Given the description of an element on the screen output the (x, y) to click on. 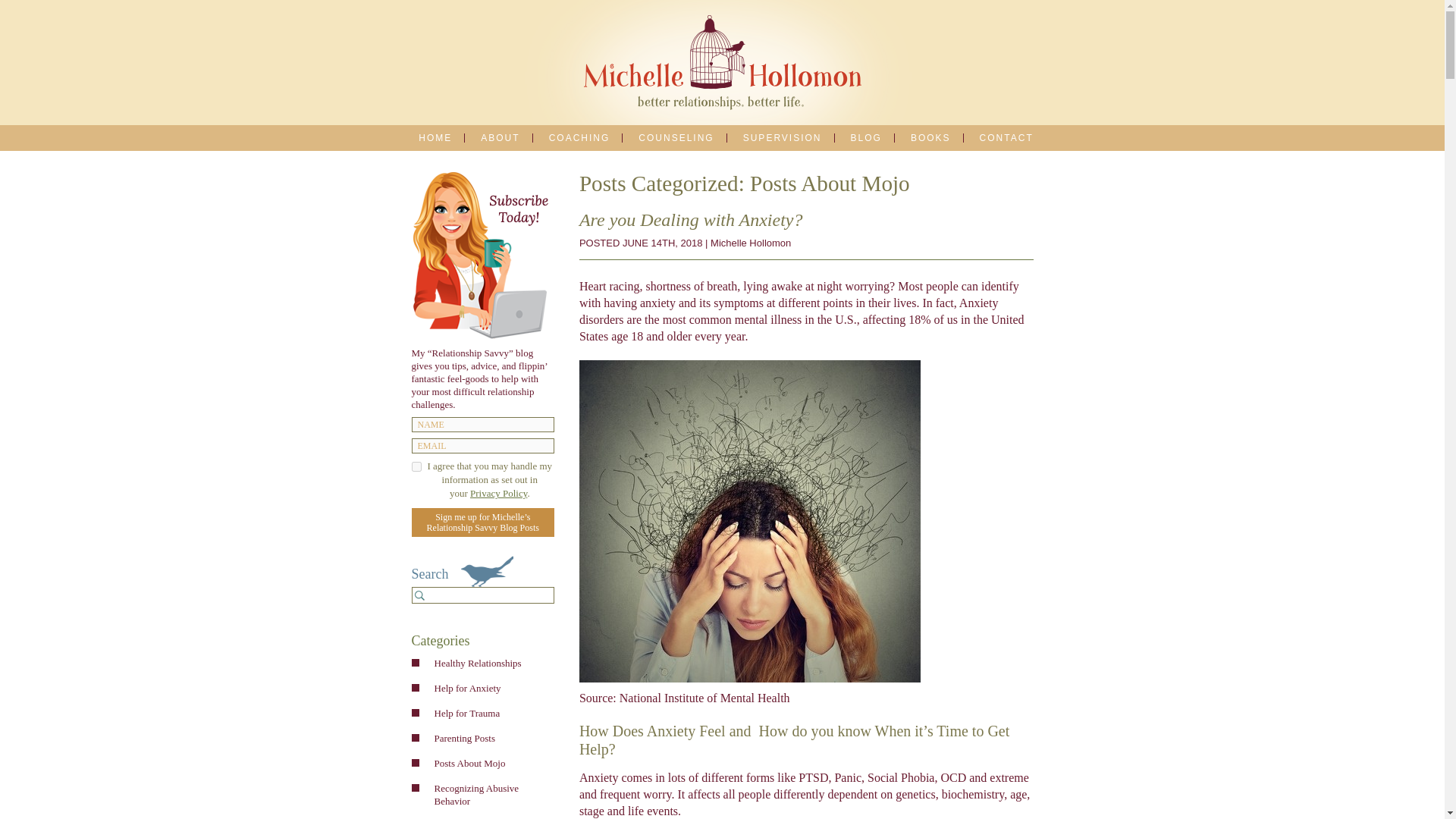
BOOKS (930, 137)
BLOG (866, 137)
on (415, 466)
Are you Dealing with Anxiety? (691, 219)
ABOUT (500, 137)
COACHING (580, 137)
Search (420, 595)
SUPERVISION (782, 137)
COUNSELING (676, 137)
Privacy Policy (498, 492)
Search (420, 595)
CONTACT (1006, 137)
Healthy Relationships (490, 662)
Are you Dealing with Anxiety? (691, 219)
HOME (435, 137)
